Given the description of an element on the screen output the (x, y) to click on. 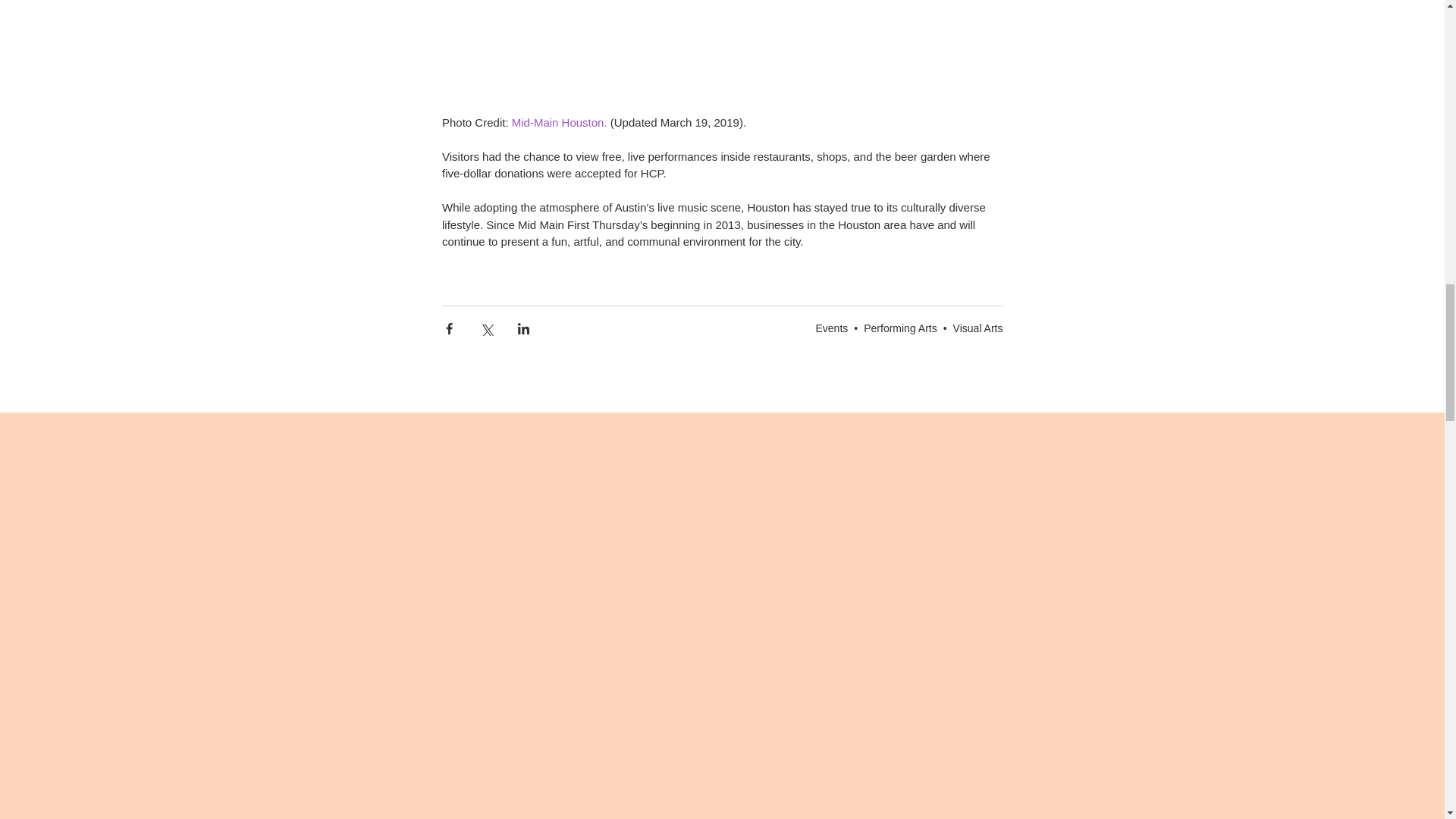
Visual Arts (978, 328)
Performing Arts (899, 328)
Events (831, 328)
Mid-Main Houston. (559, 121)
